Given the description of an element on the screen output the (x, y) to click on. 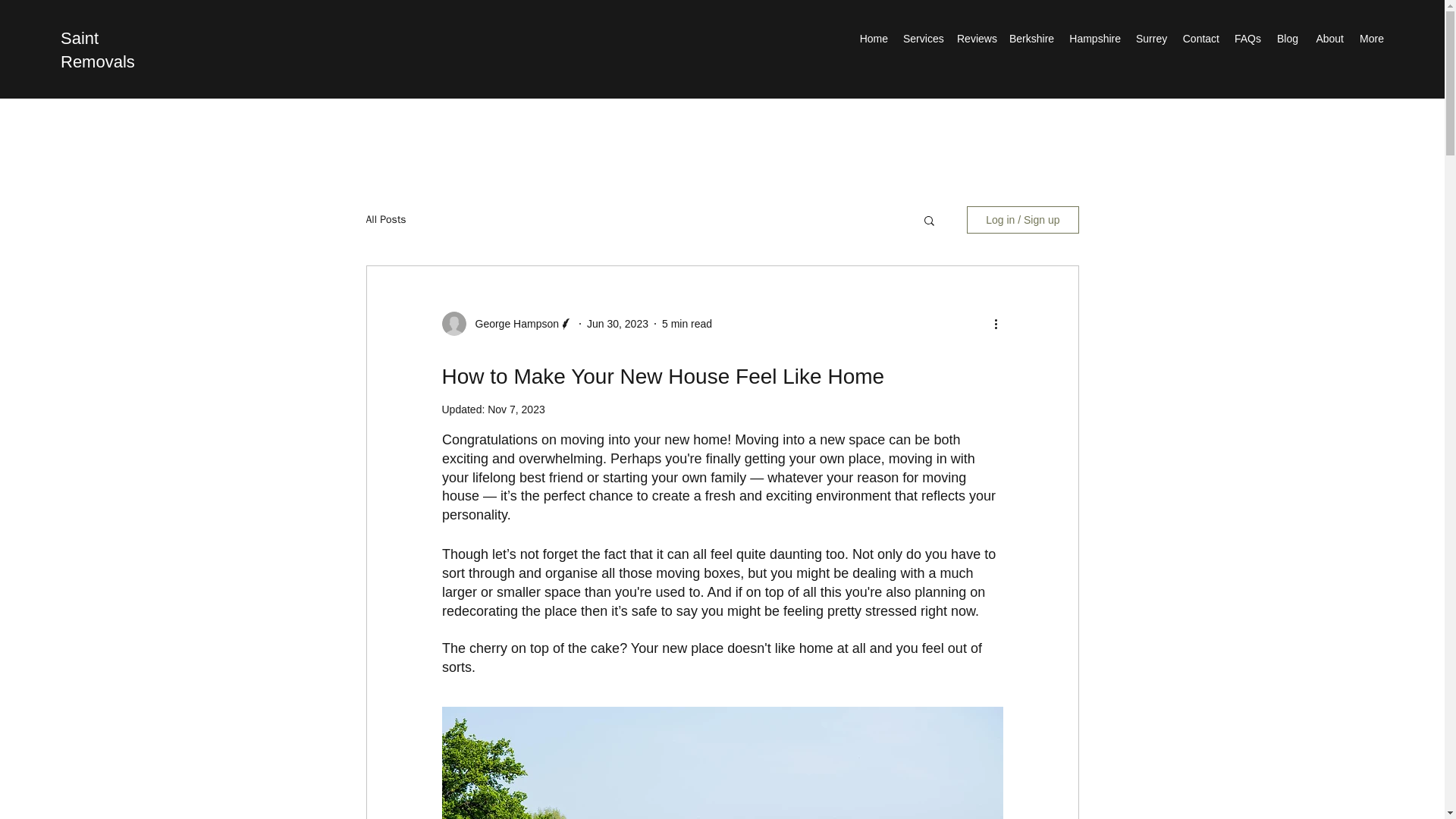
Berkshire (1031, 38)
About (1328, 38)
FAQs (1247, 38)
Reviews (975, 38)
Saint Removals (98, 49)
All Posts (385, 219)
George Hampson (512, 324)
Services (922, 38)
Hampshire (1094, 38)
Surrey (1150, 38)
Blog (1287, 38)
Contact (1200, 38)
Nov 7, 2023 (515, 409)
Home (873, 38)
Jun 30, 2023 (616, 323)
